Given the description of an element on the screen output the (x, y) to click on. 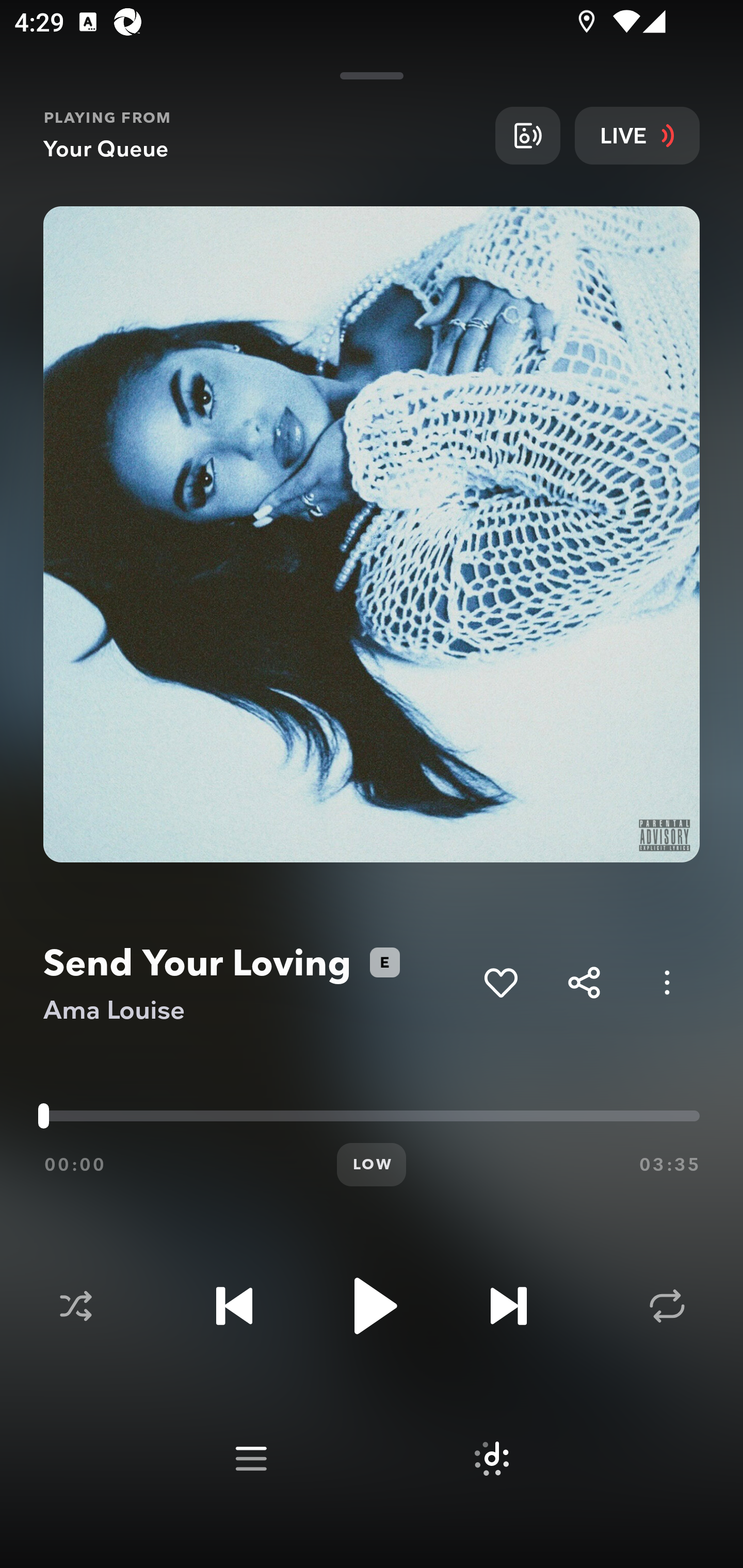
Broadcast (527, 135)
LIVE (637, 135)
PLAYING FROM Your Queue (261, 135)
Send Your Loving    Ama Louise (255, 983)
Add to My Collection (500, 982)
Share (583, 982)
Options (666, 982)
LOW (371, 1164)
Play (371, 1306)
Previous (234, 1306)
Next (508, 1306)
Shuffle disabled (75, 1306)
Repeat Off (666, 1306)
Play queue (250, 1458)
Suggested tracks (491, 1458)
